Given the description of an element on the screen output the (x, y) to click on. 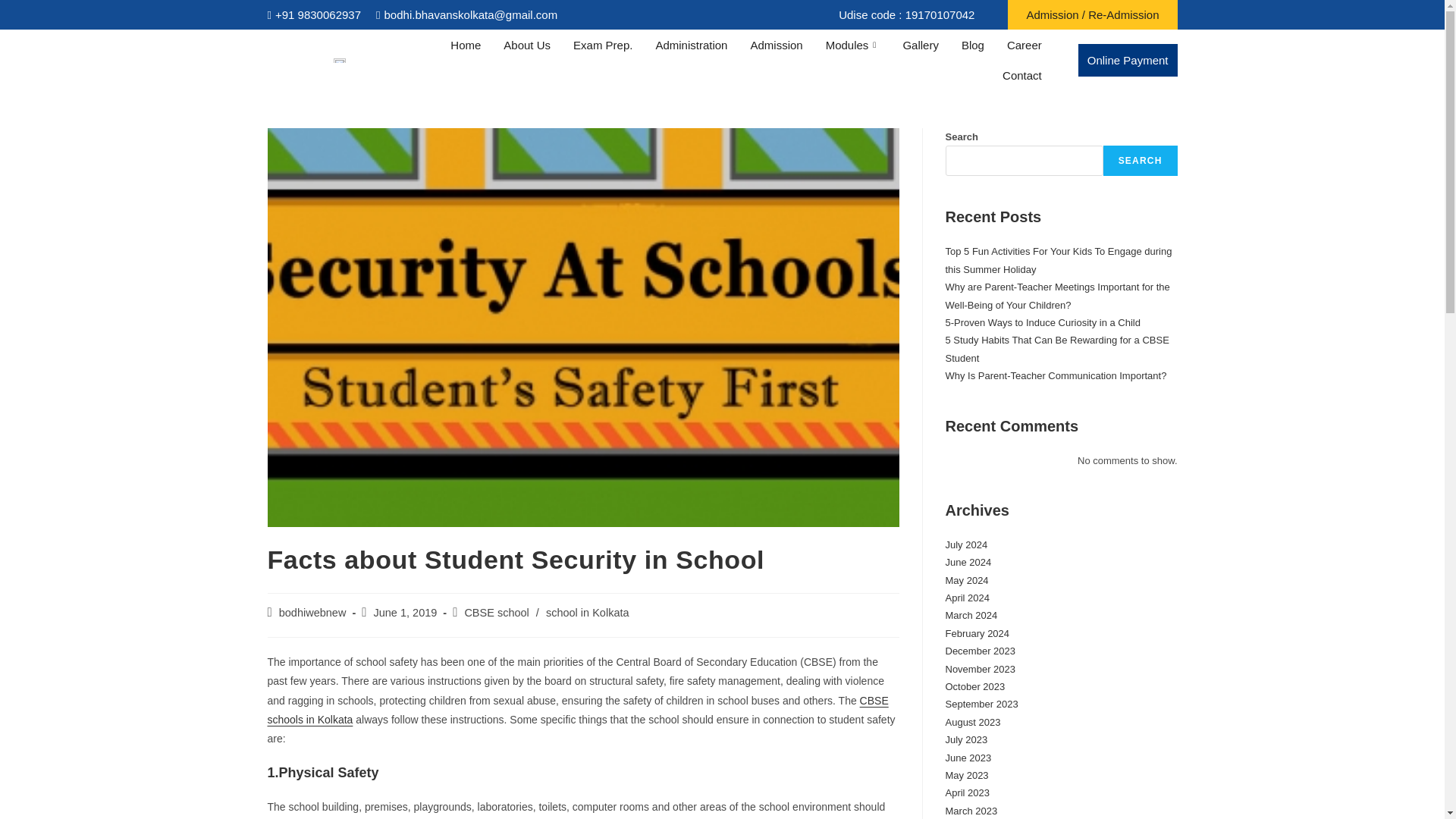
Blog (972, 44)
Gallery (920, 44)
About Us (527, 44)
Contact (1021, 74)
Admission (775, 44)
Home (465, 44)
Administration (690, 44)
Modules (852, 44)
Career (1023, 44)
Posts by bodhiwebnew (312, 612)
Exam Prep. (602, 44)
Udise code : 19170107042 (906, 14)
Online Payment (1127, 60)
